Given the description of an element on the screen output the (x, y) to click on. 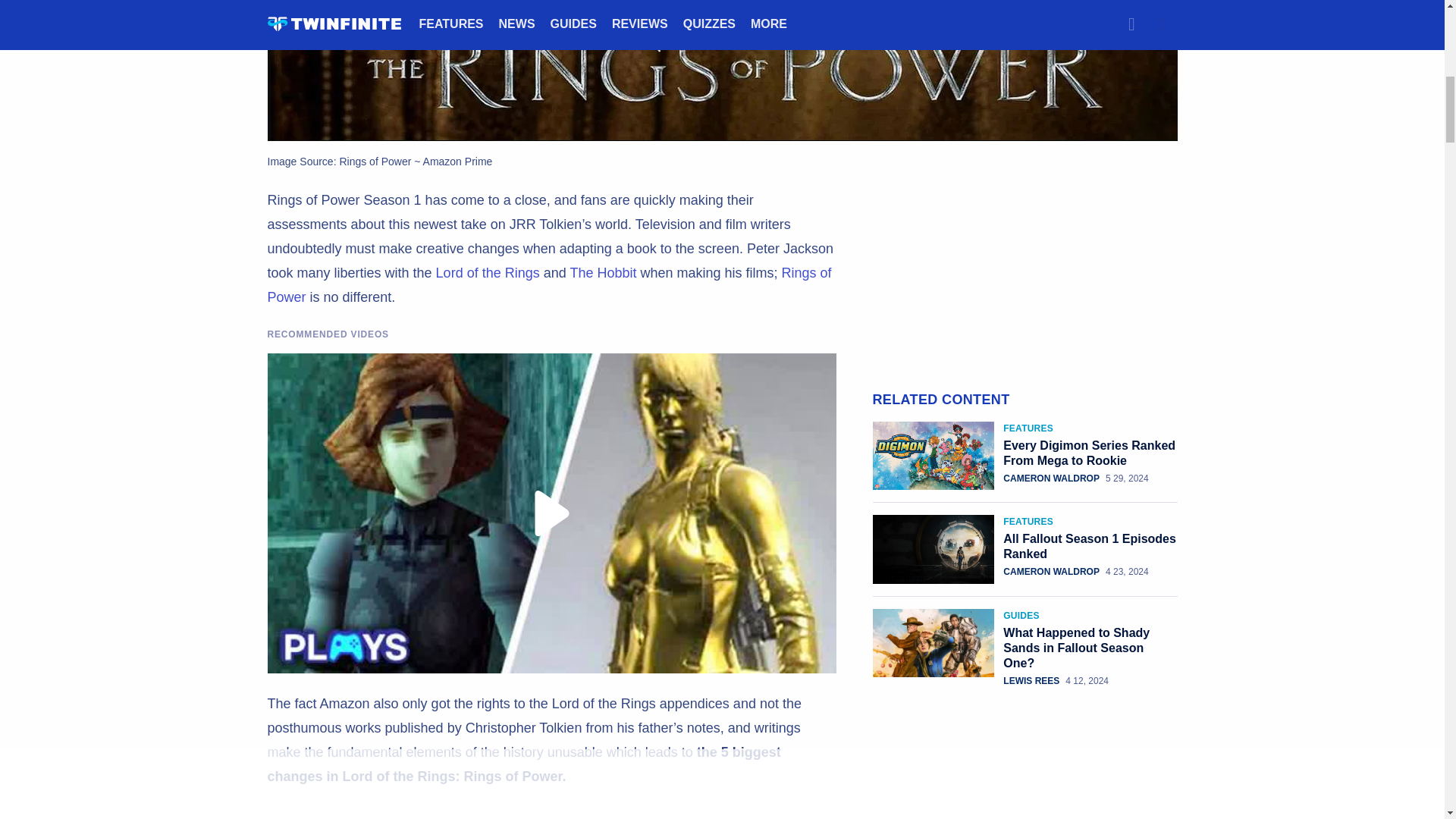
3rd party ad content (1024, 282)
